Given the description of an element on the screen output the (x, y) to click on. 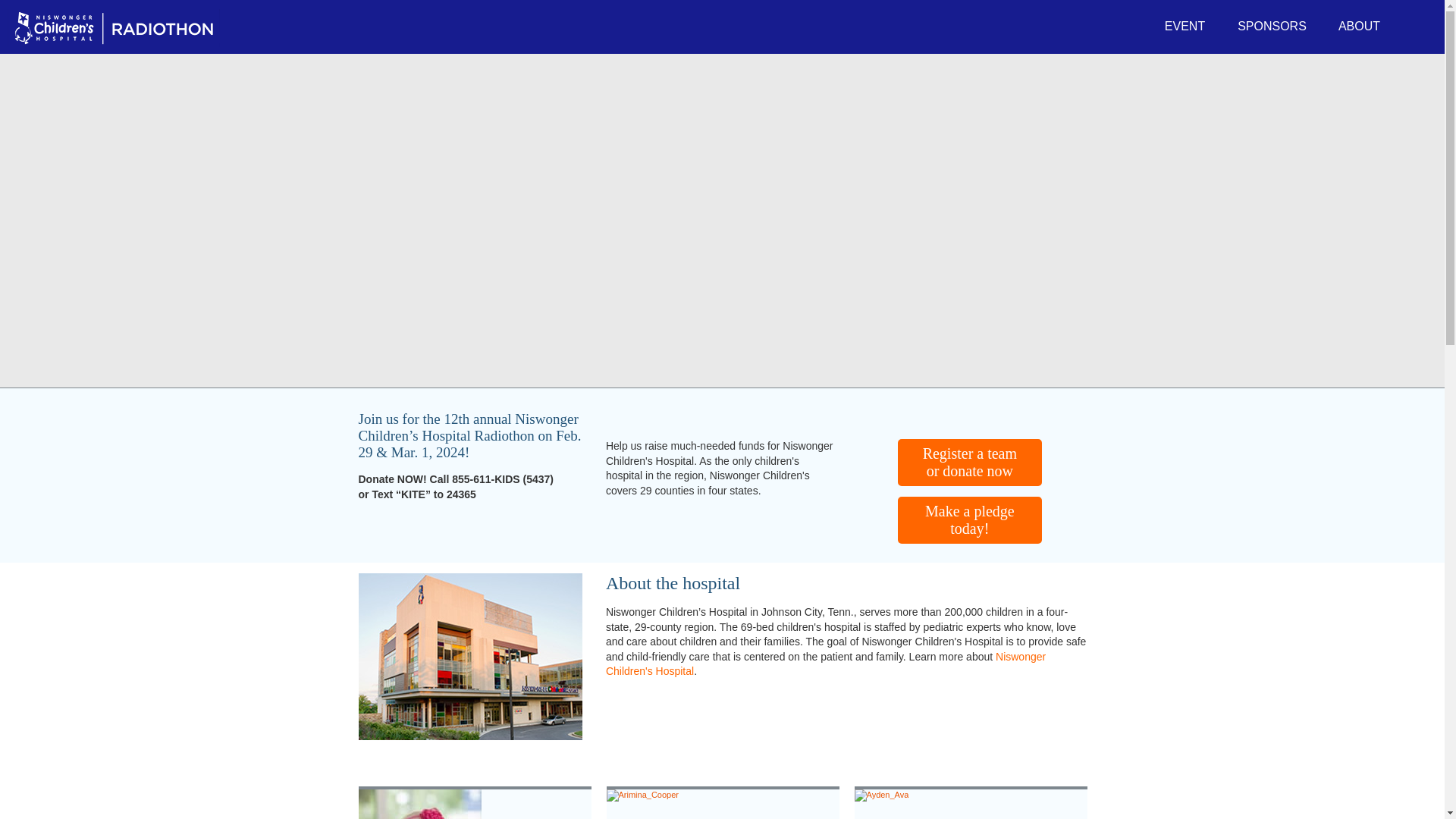
Register a team or donate now (970, 462)
EVENT (1184, 27)
Make a pledge today! (970, 519)
ABOUT (1359, 27)
Niswonger Children's Hospital (825, 664)
SPONSORS (1272, 27)
